Given the description of an element on the screen output the (x, y) to click on. 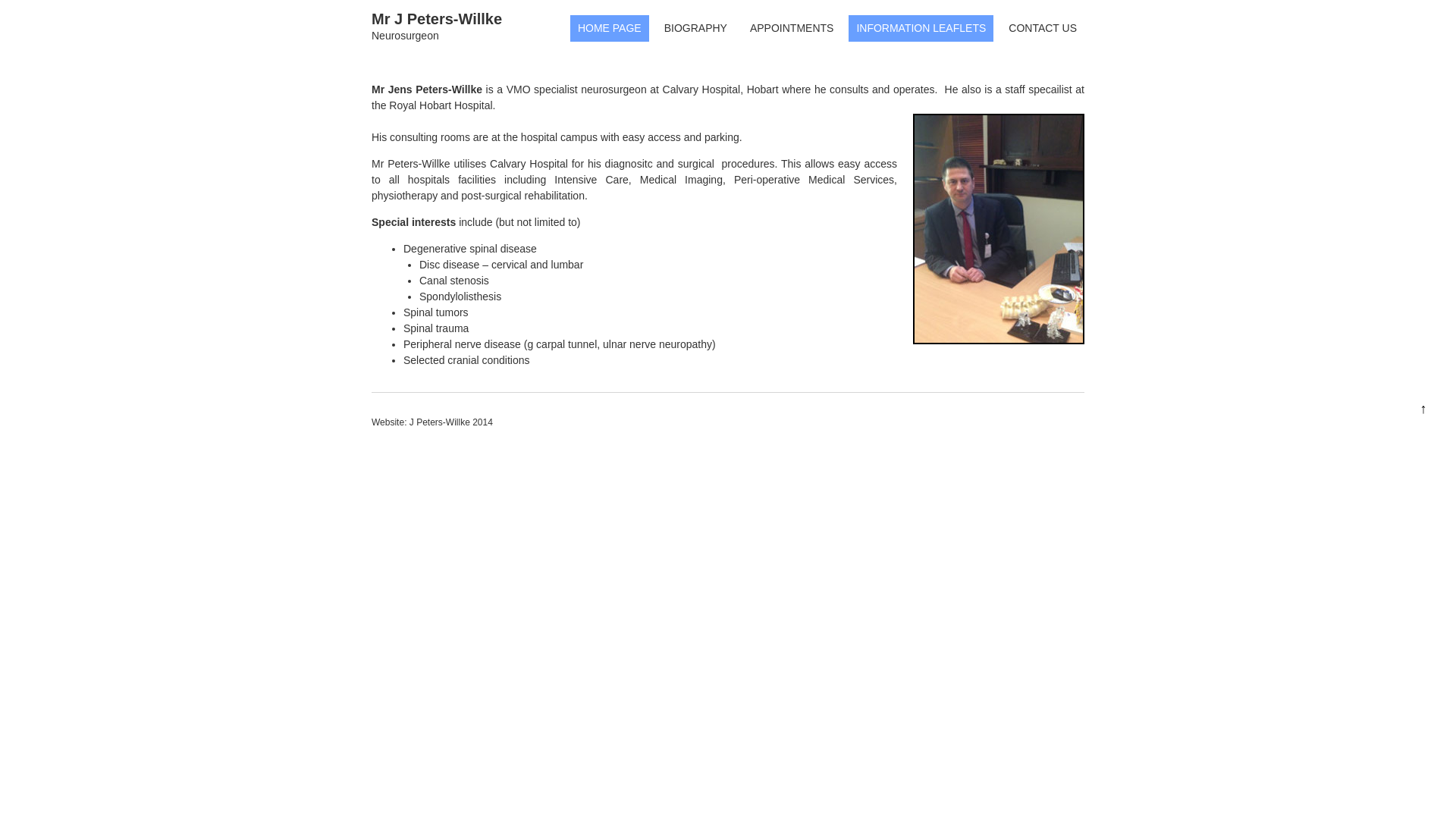
INFORMATION LEAFLETS Element type: text (920, 28)
HOME PAGE Element type: text (609, 28)
APPOINTMENTS Element type: text (791, 28)
BIOGRAPHY Element type: text (695, 28)
CONTACT US Element type: text (1042, 28)
Mr J Peters-Willke
Neurosurgeon Element type: text (436, 27)
